Given the description of an element on the screen output the (x, y) to click on. 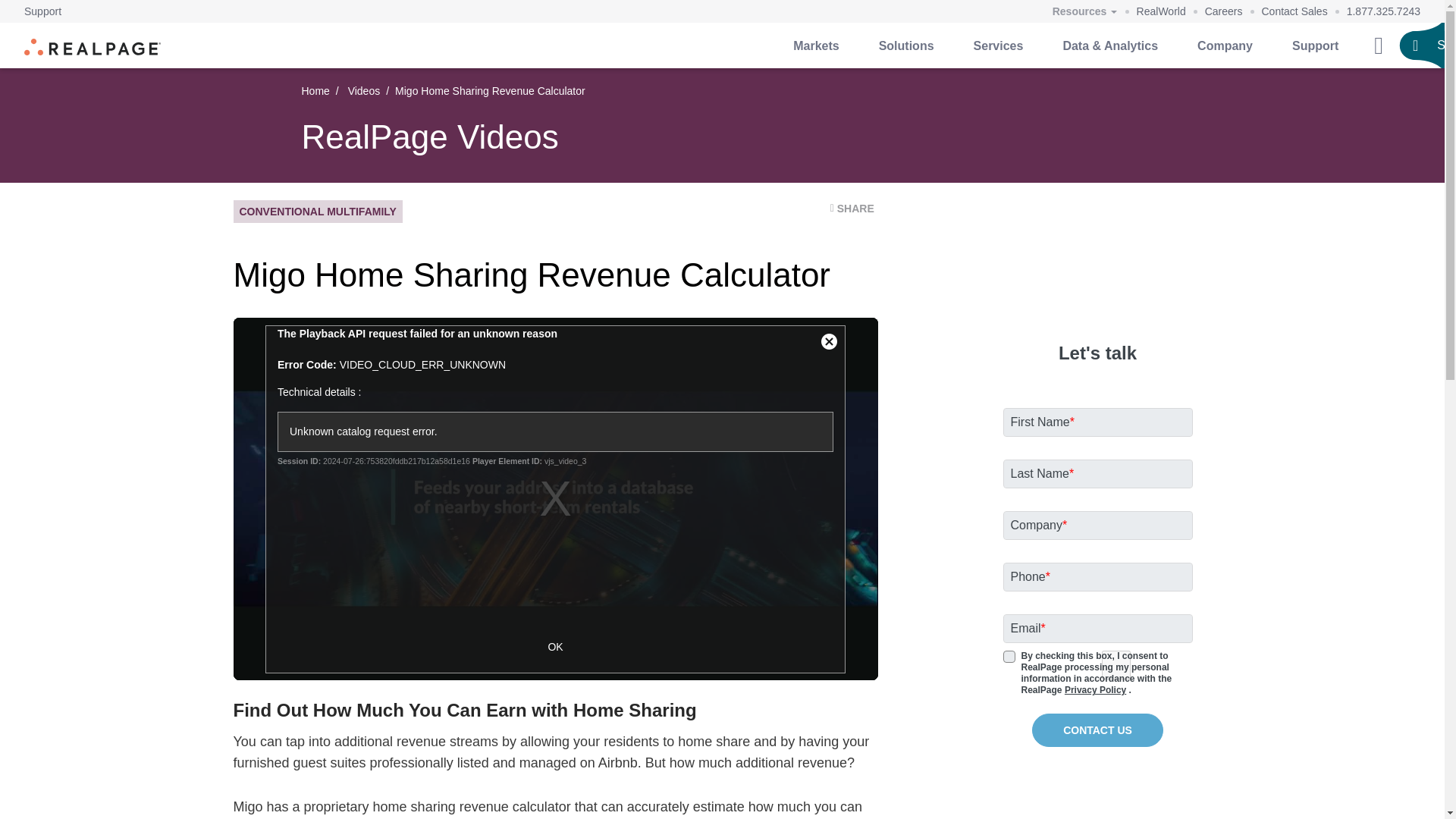
Careers (1224, 11)
Careers (1224, 11)
1.877.325.7243 (1383, 11)
RealWorld (1161, 11)
true (1114, 664)
Support (42, 11)
Resources (1084, 11)
Support (42, 11)
RealWorld (1161, 11)
Markets (816, 44)
Contact Sales (1294, 11)
Solutions (906, 44)
Contact Sales (1294, 11)
